Given the description of an element on the screen output the (x, y) to click on. 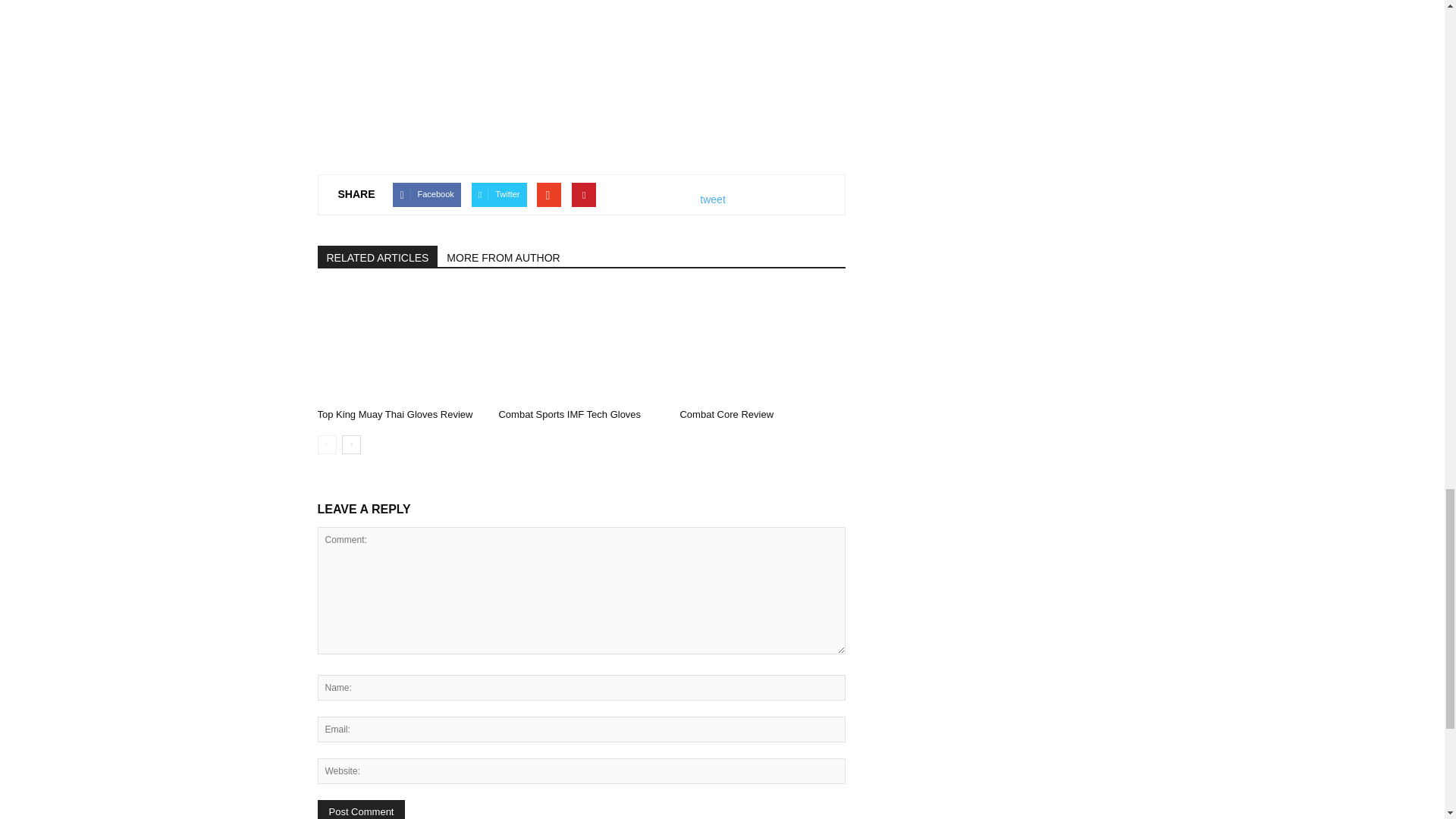
RELATED ARTICLES (377, 255)
MORE FROM AUTHOR (503, 255)
tweet (712, 199)
Combat Sports IMF Tech Gloves (568, 414)
Twitter (499, 193)
Combat Core Review (761, 345)
Facebook (426, 193)
Post Comment (360, 809)
Combat Core Review (726, 414)
Top King Muay Thai Gloves Review (399, 345)
